Given the description of an element on the screen output the (x, y) to click on. 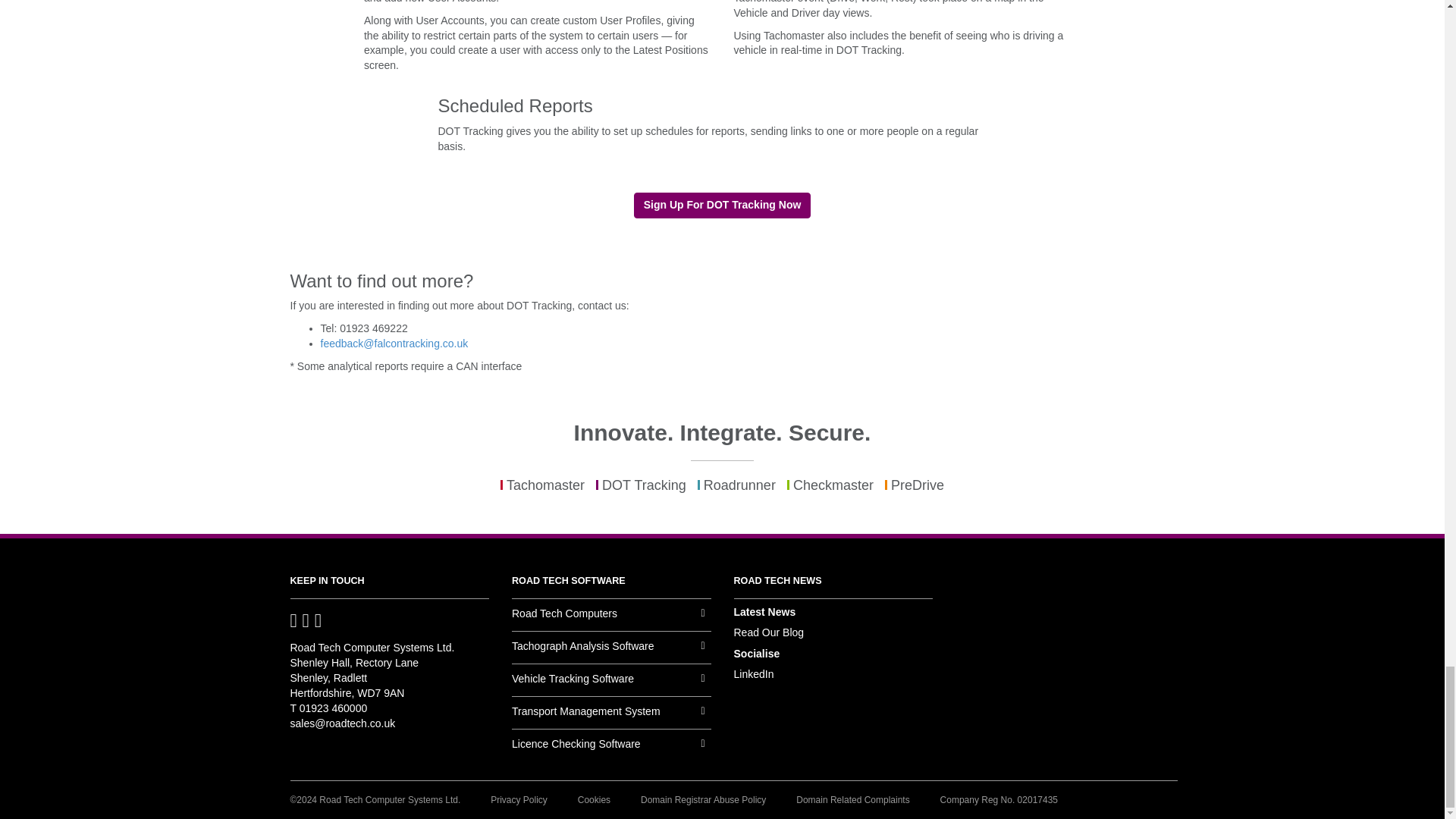
Road Tech Computers (611, 618)
Domain Registrar Abuse Policy (702, 799)
Vehicle Tracking Software (611, 683)
Read Our Blog (769, 632)
Privacy Policy (518, 799)
Domain Related Complaints (852, 799)
Sign Up For DOT Tracking Now (721, 205)
Licence Checking Software (611, 749)
Cookies (594, 799)
Tachograph Analysis Software (611, 651)
